Given the description of an element on the screen output the (x, y) to click on. 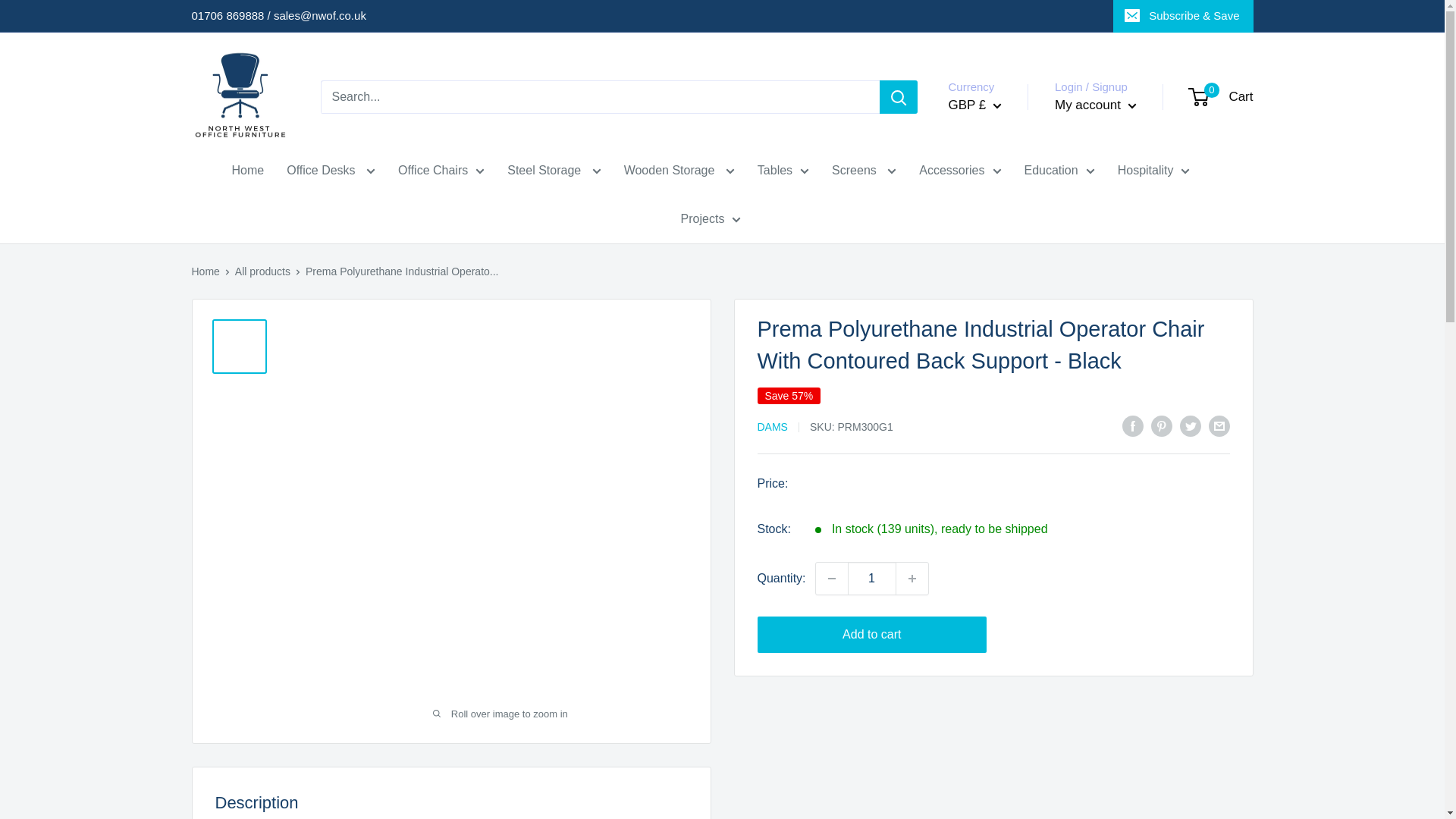
1 (871, 578)
Increase quantity by 1 (912, 578)
Decrease quantity by 1 (831, 578)
